Given the description of an element on the screen output the (x, y) to click on. 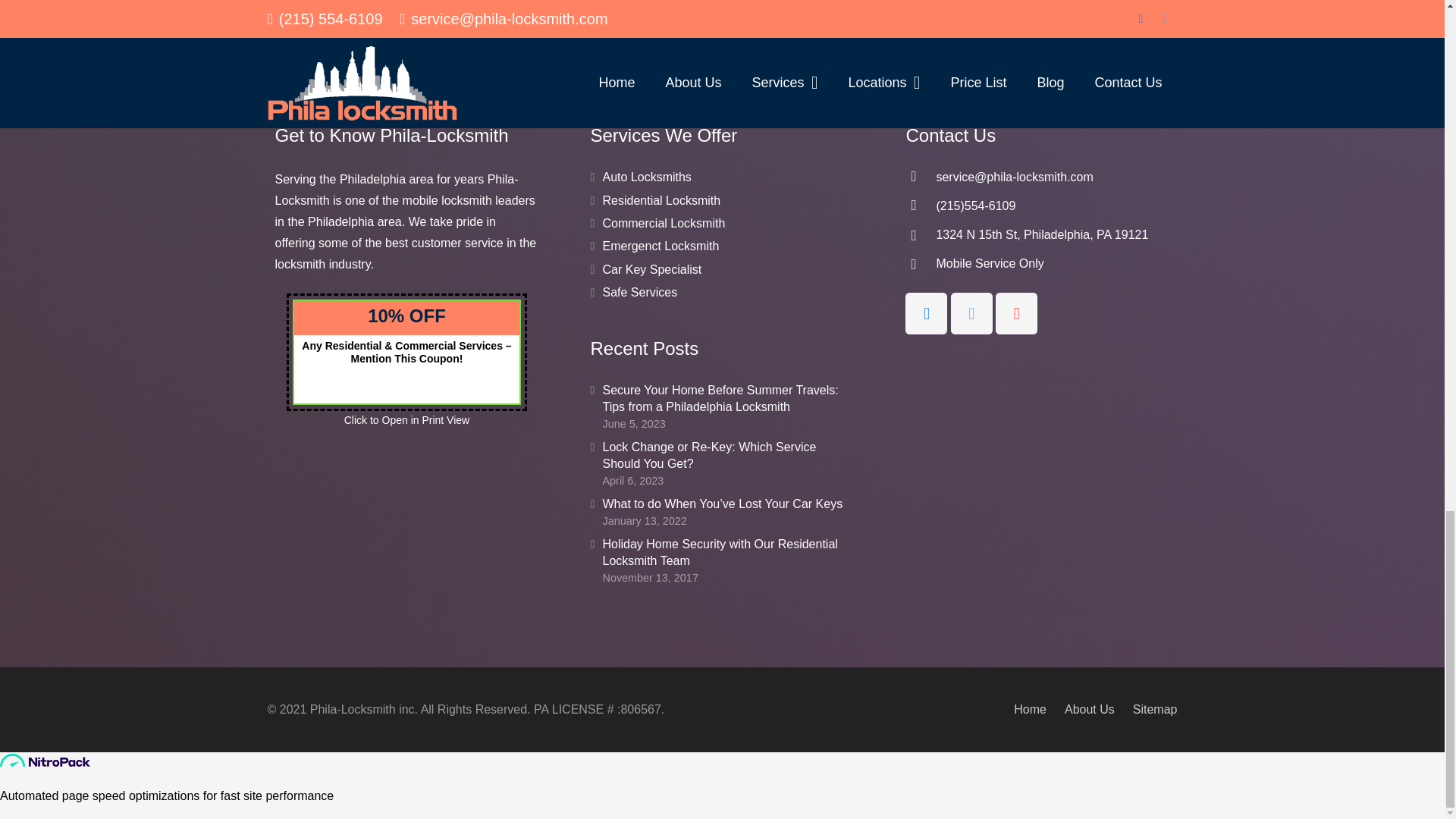
Twitter (971, 380)
Facebook (926, 380)
Google (1015, 380)
